Given the description of an element on the screen output the (x, y) to click on. 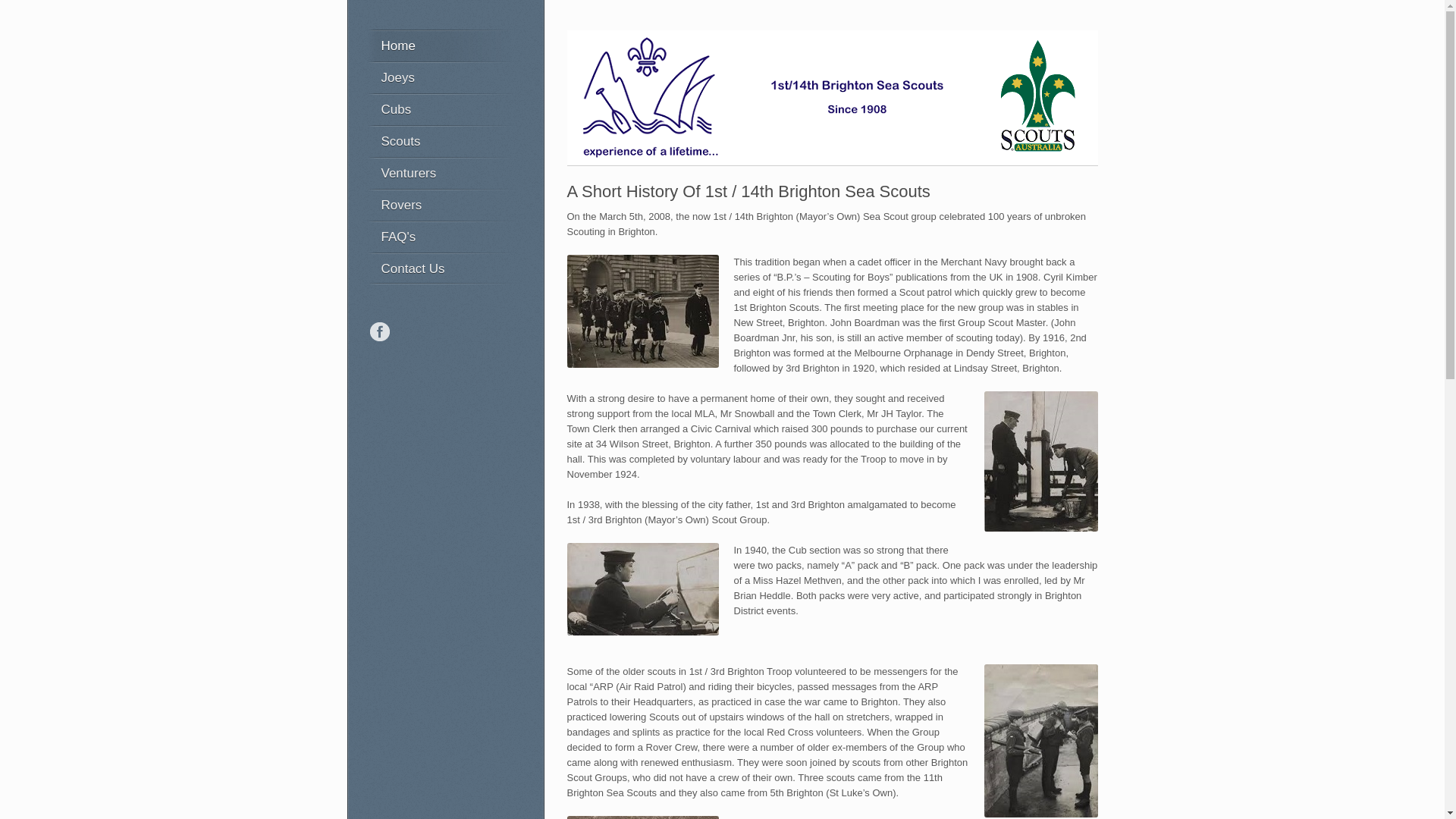
Rovers Element type: text (441, 204)
Joeys Element type: text (441, 77)
Contact Us Element type: text (441, 268)
Venturers Element type: text (441, 172)
Home Element type: text (441, 45)
Cubs Element type: text (441, 109)
Scouts Element type: text (441, 140)
FAQ's Element type: text (441, 236)
